Given the description of an element on the screen output the (x, y) to click on. 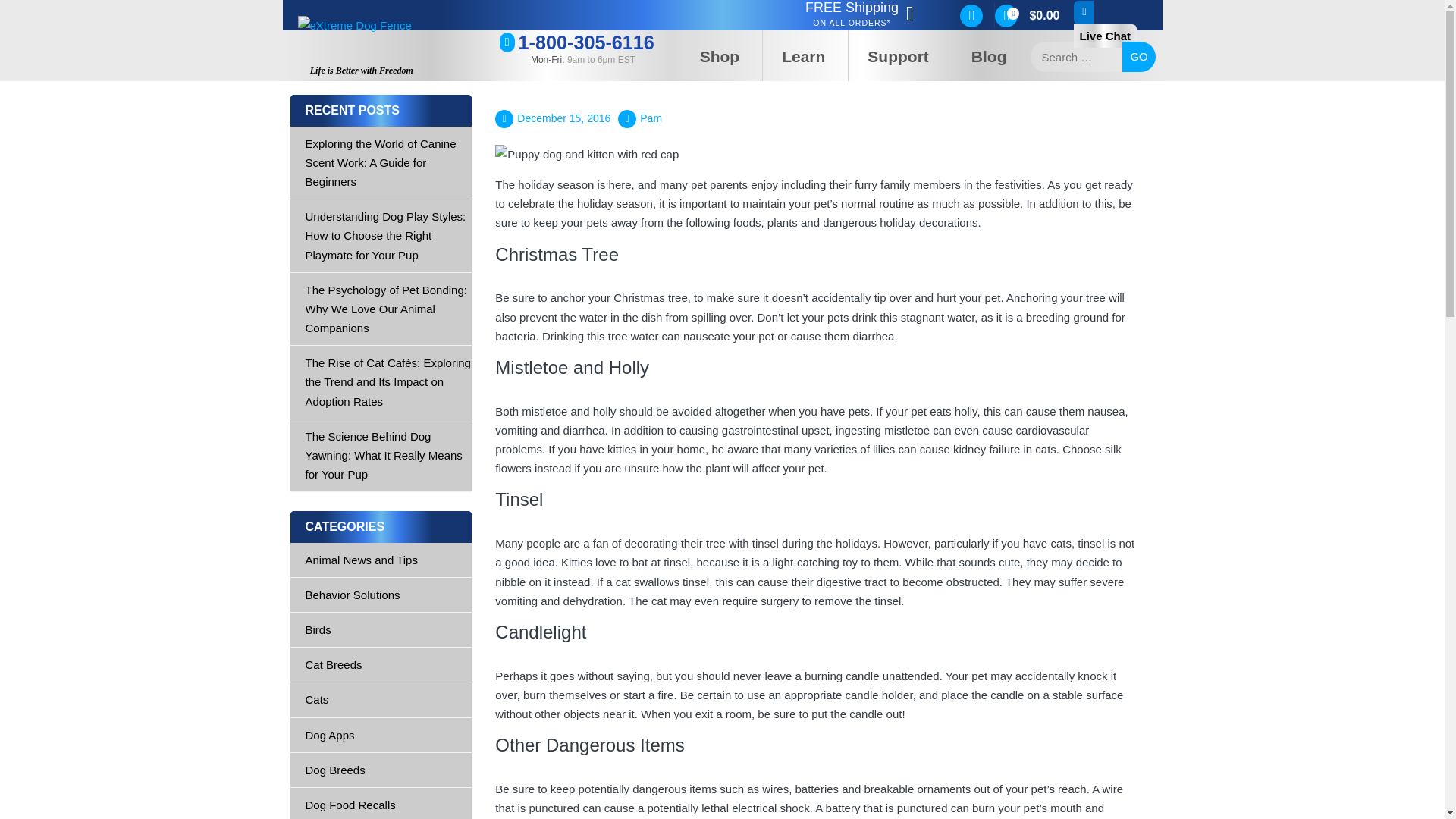
GO (1139, 56)
Live Chat (1114, 13)
Login (923, 187)
GO (1139, 56)
GO (1139, 56)
Shop (721, 55)
